Given the description of an element on the screen output the (x, y) to click on. 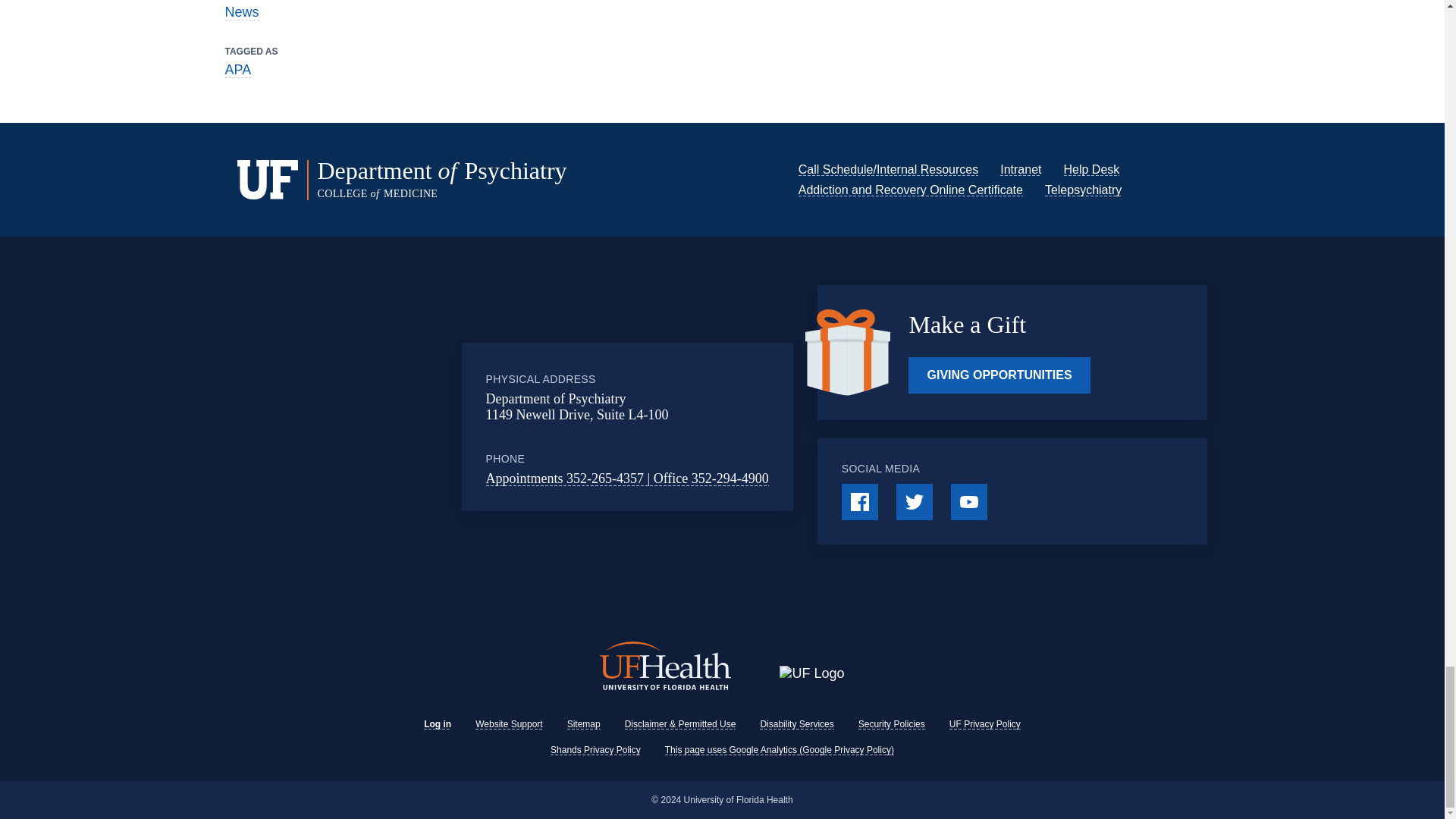
Website Support (509, 724)
Addiction and Recovery Online Certificate (910, 189)
Google Maps Embed (396, 426)
Intranet (1020, 169)
Log in (437, 724)
UF Privacy Policy (984, 724)
Security Policies (891, 724)
Help Desk (1090, 169)
Telepsychiatry (1083, 189)
Sitemap (583, 724)
